Given the description of an element on the screen output the (x, y) to click on. 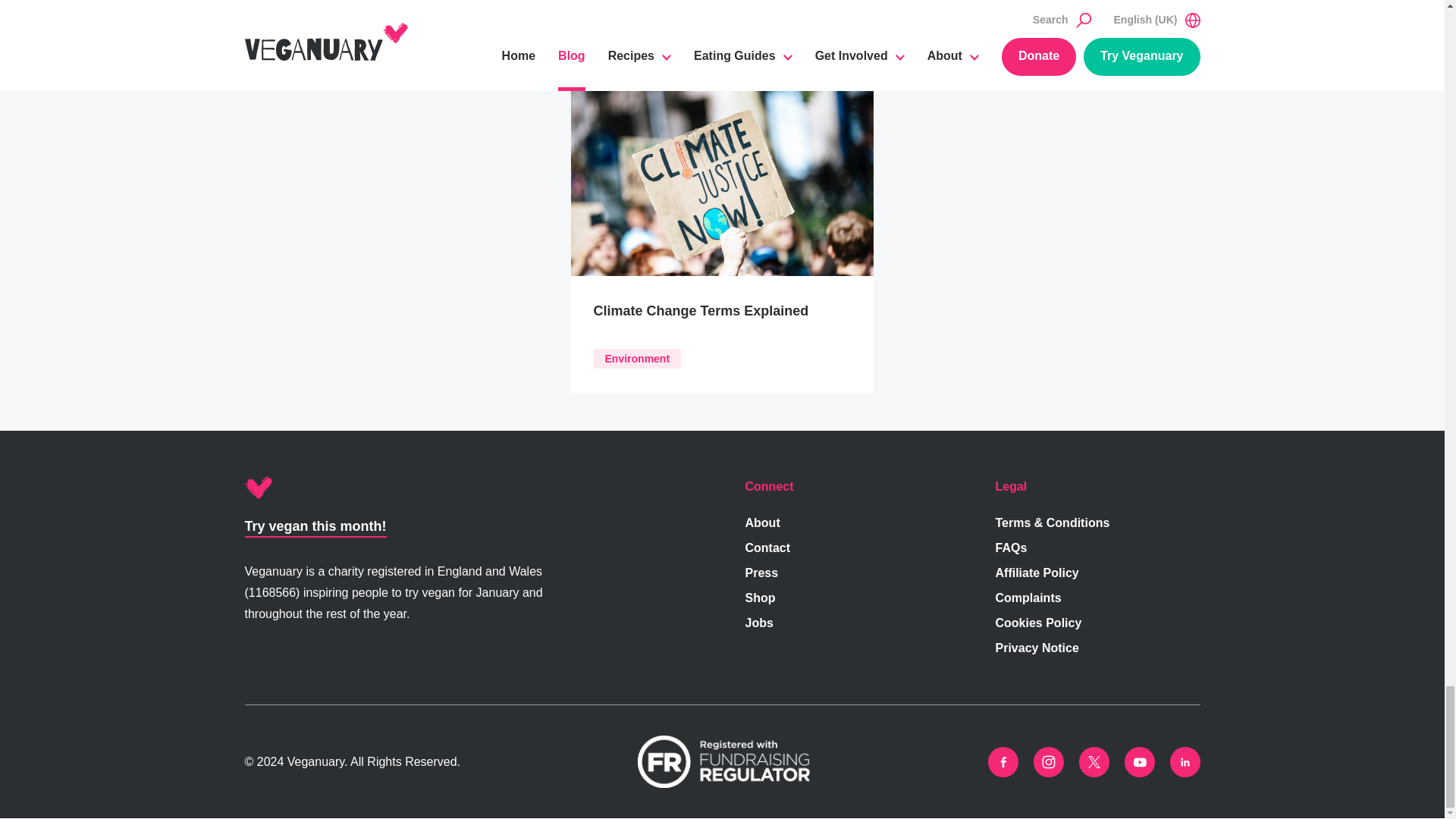
Try vegan this month! (314, 526)
